Given the description of an element on the screen output the (x, y) to click on. 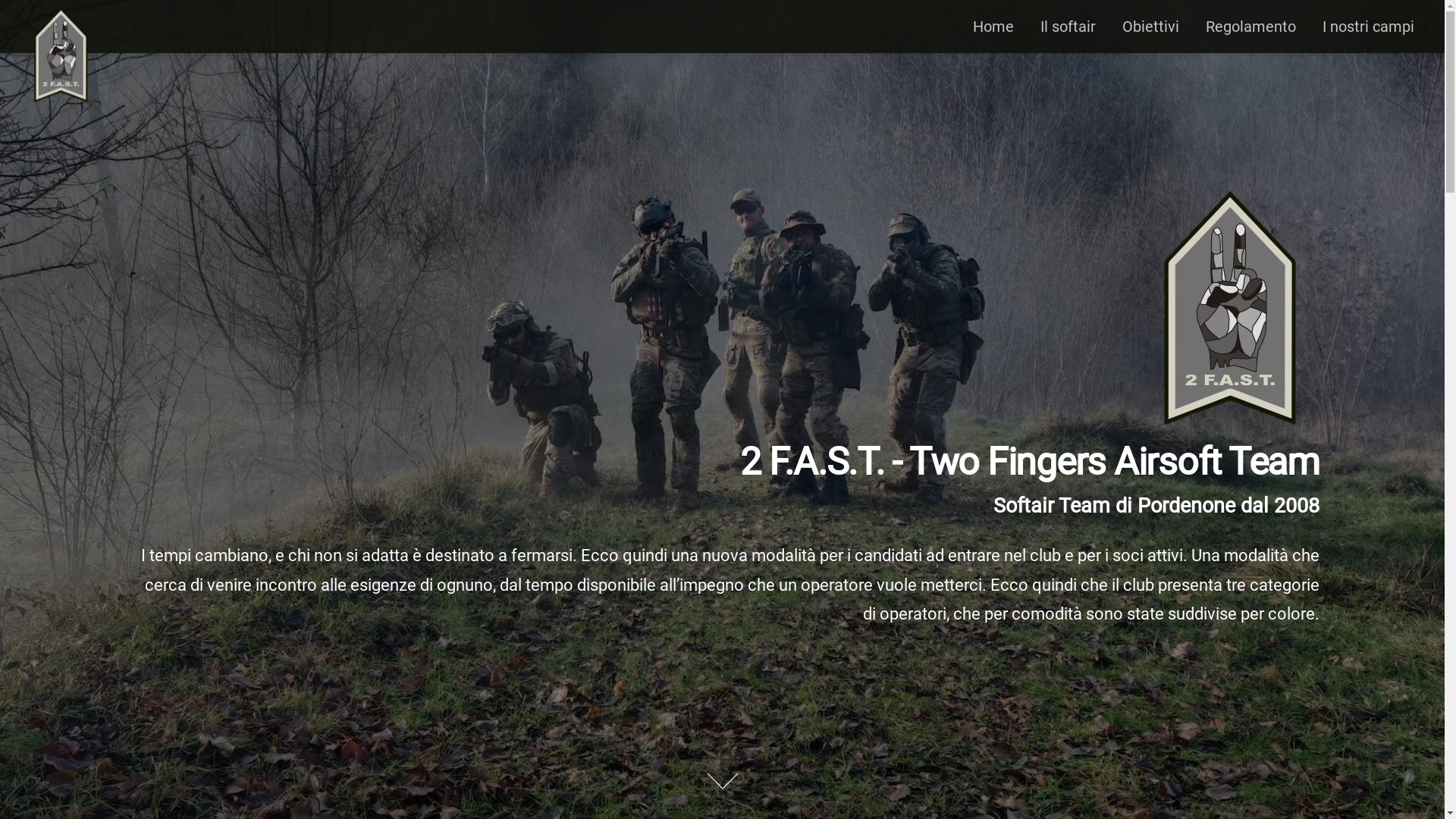
Regolamento Element type: text (1250, 26)
I nostri campi Element type: text (1368, 26)
Il softair Element type: text (1067, 26)
Home Element type: text (992, 26)
Obiettivi Element type: text (1150, 26)
